Given the description of an element on the screen output the (x, y) to click on. 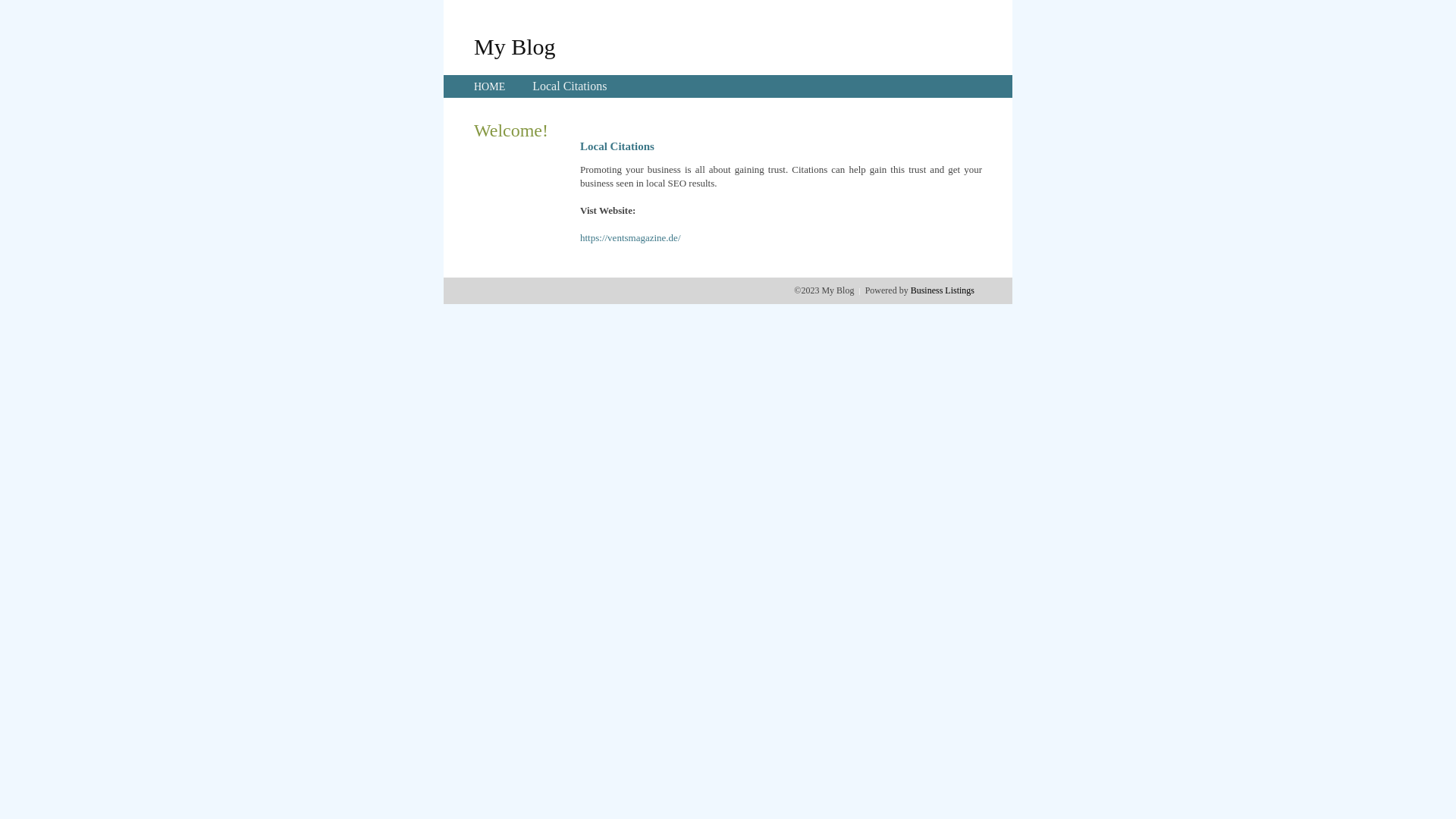
Business Listings Element type: text (942, 290)
HOME Element type: text (489, 86)
My Blog Element type: text (514, 46)
https://ventsmagazine.de/ Element type: text (630, 237)
Local Citations Element type: text (569, 85)
